Given the description of an element on the screen output the (x, y) to click on. 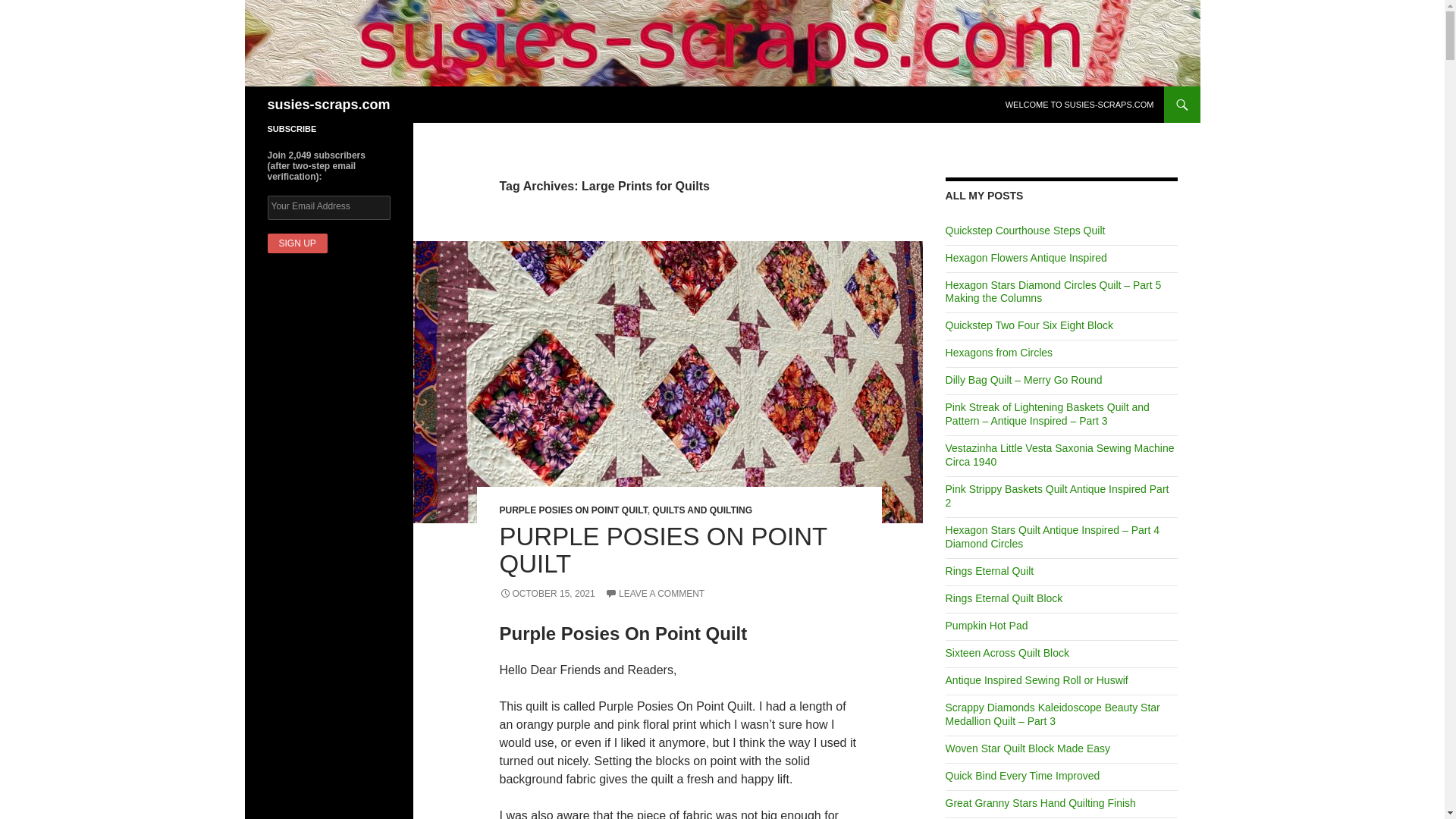
PURPLE POSIES ON POINT QUILT (572, 510)
QUILTS AND QUILTING (702, 510)
susies-scraps.com (328, 104)
WELCOME TO SUSIES-SCRAPS.COM (1079, 104)
Sign up (296, 243)
PURPLE POSIES ON POINT QUILT (663, 550)
LEAVE A COMMENT (654, 593)
OCTOBER 15, 2021 (546, 593)
